Given the description of an element on the screen output the (x, y) to click on. 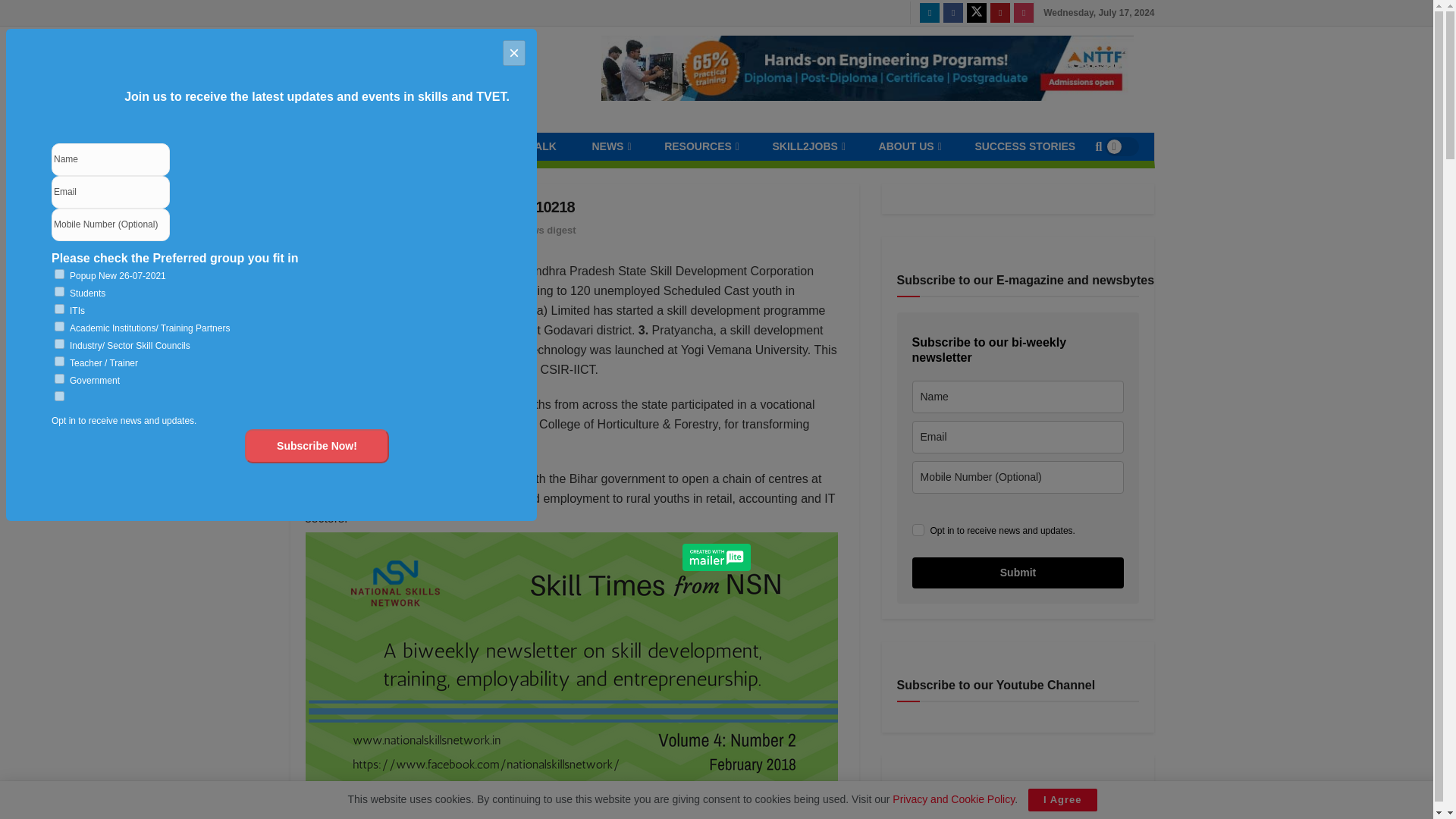
SKILL STORY (424, 146)
NEWS (609, 146)
HOME (339, 146)
ABOUT US (908, 146)
SUCCESS STORIES (1024, 146)
RESOURCES (700, 146)
SKILL2JOBS (807, 146)
SKILL TALK (525, 146)
